Given the description of an element on the screen output the (x, y) to click on. 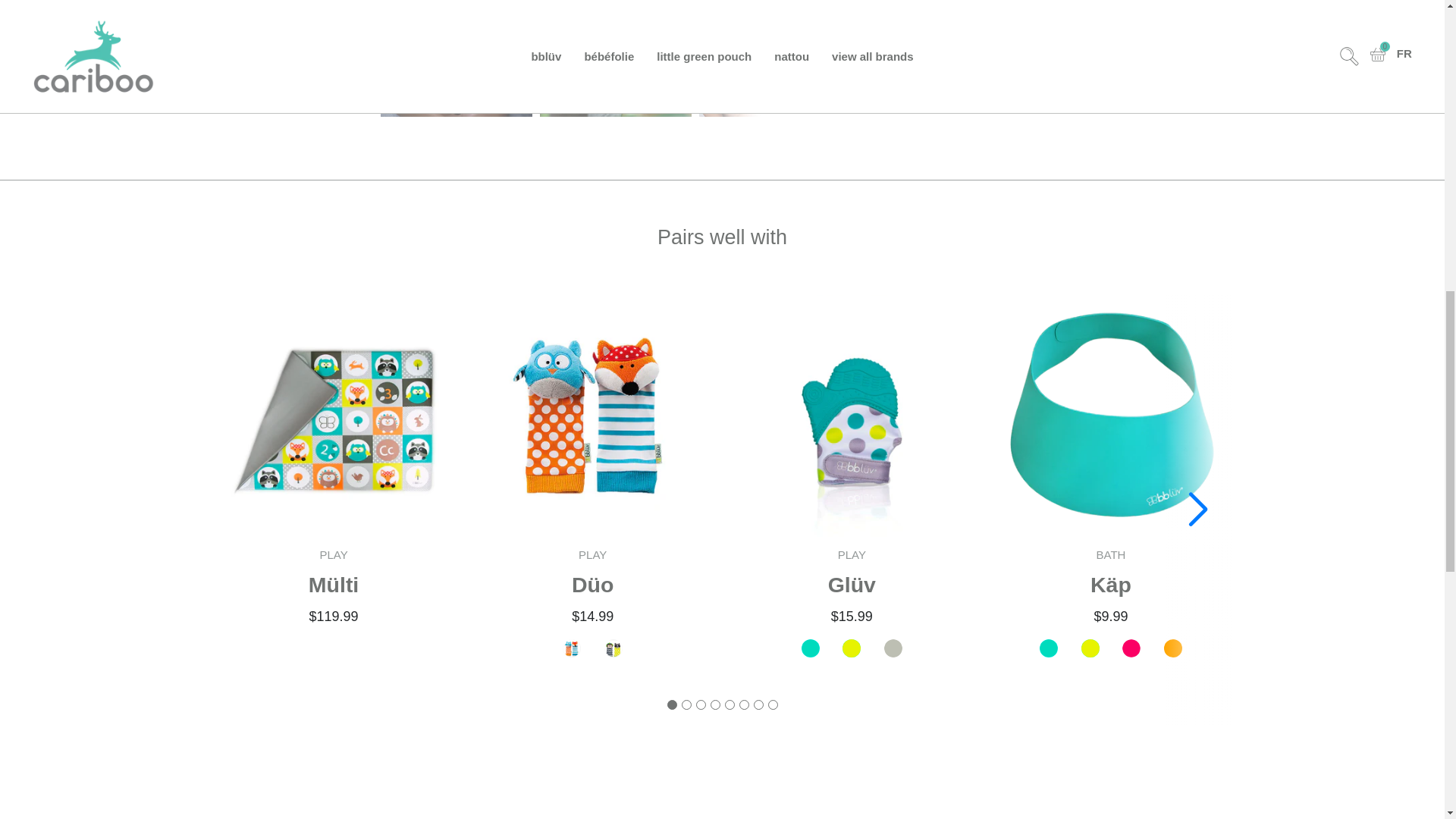
Owl and Fox (571, 648)
Aqua (810, 648)
Hedgehog and Racoon (613, 648)
